Given the description of an element on the screen output the (x, y) to click on. 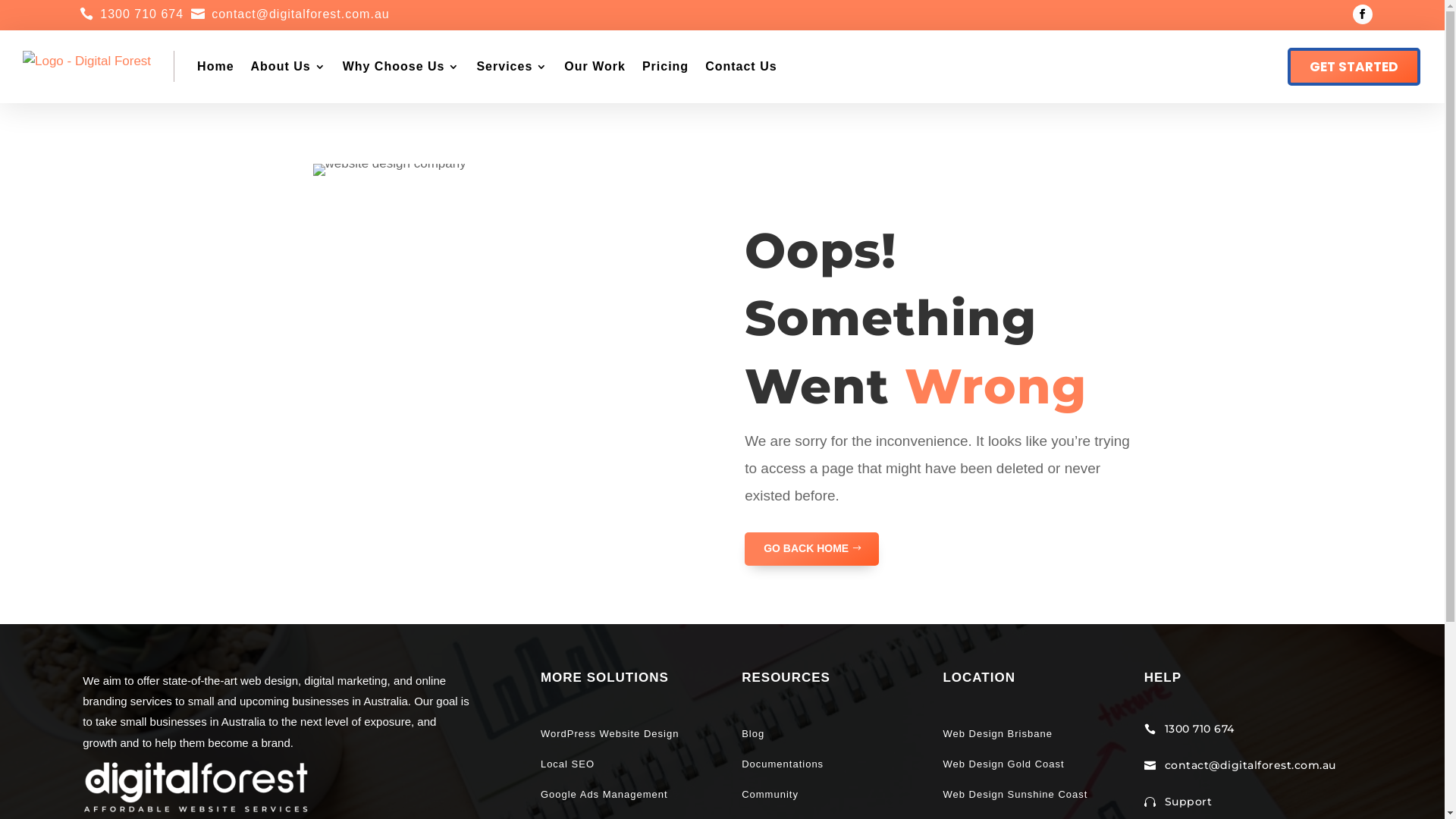
GET STARTED Element type: text (1353, 66)
website design company Element type: hover (388, 169)
Support Element type: text (1188, 801)
Home Element type: text (215, 66)
Follow on Facebook Element type: hover (1362, 14)
WordPress Website Design  Element type: text (611, 733)
Web Design Brisbane Element type: text (997, 733)
Google Ads Management  Element type: text (605, 794)
Our Work Element type: text (594, 66)
contact@digitalforest.com.au Element type: text (300, 13)
Blog Element type: text (752, 733)
Web Design Sunshine Coast Element type: text (1014, 794)
GO BACK HOME Element type: text (811, 548)
Local SEO Element type: text (567, 763)
Contact Us Element type: text (740, 66)
Community Element type: text (769, 794)
Services Element type: text (511, 66)
Web Design Gold Coast Element type: text (1002, 763)
Why Choose Us Element type: text (401, 66)
1300 710 674 Element type: text (141, 13)
Pricing Element type: text (665, 66)
About Us Element type: text (288, 66)
Documentations Element type: text (782, 763)
Digital Forest - Affordable Website Design Company Australia Element type: hover (196, 785)
